Given the description of an element on the screen output the (x, y) to click on. 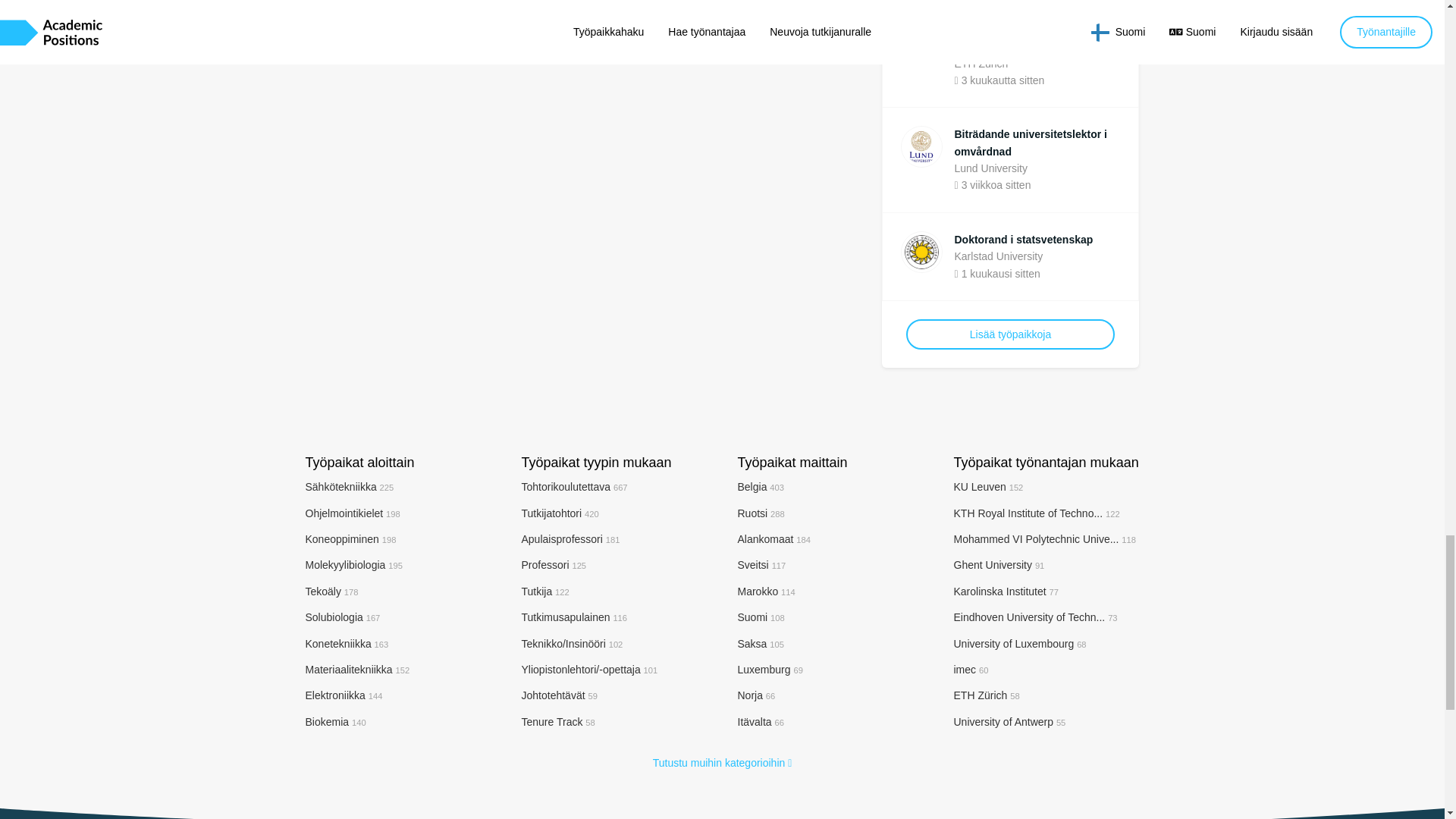
Tutkija (545, 591)
Tutkimusapulainen (574, 616)
Tohtorikoulutettava (574, 486)
Ohjelmointikielet (351, 512)
Elektroniikka (342, 695)
Solubiologia (342, 616)
Tutkijatohtori (559, 512)
Professori (553, 564)
Materiaalitekniikka (356, 669)
Konetekniikka (346, 644)
Biokemia (334, 721)
Apulaisprofessori (570, 539)
Tenure Track (558, 721)
Koneoppiminen (350, 539)
Molekyylibiologia (352, 564)
